Given the description of an element on the screen output the (x, y) to click on. 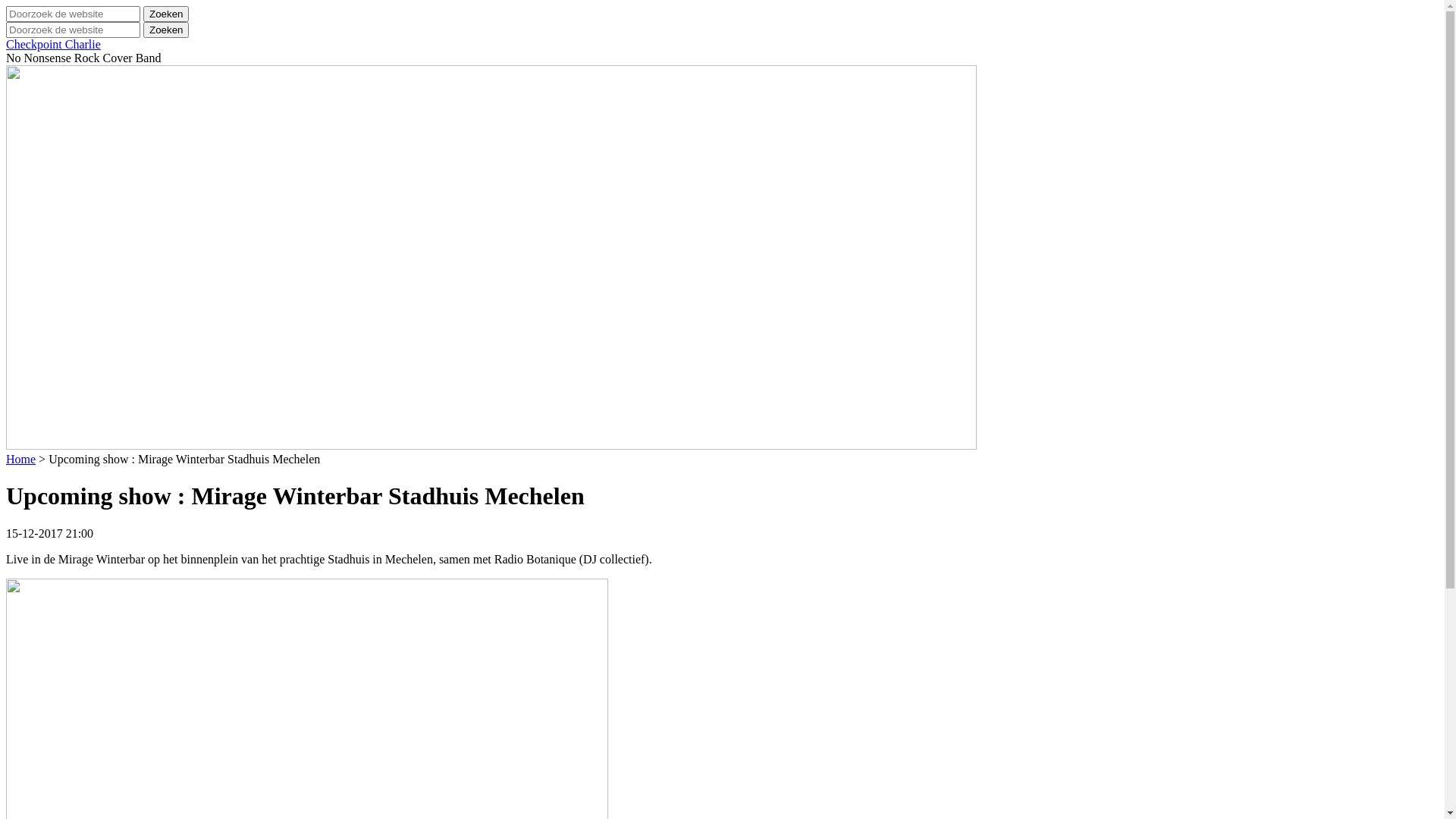
Home Element type: text (20, 458)
Zoeken Element type: text (165, 29)
Zoeken Element type: text (165, 13)
Checkpoint Charlie Element type: text (53, 43)
